Given the description of an element on the screen output the (x, y) to click on. 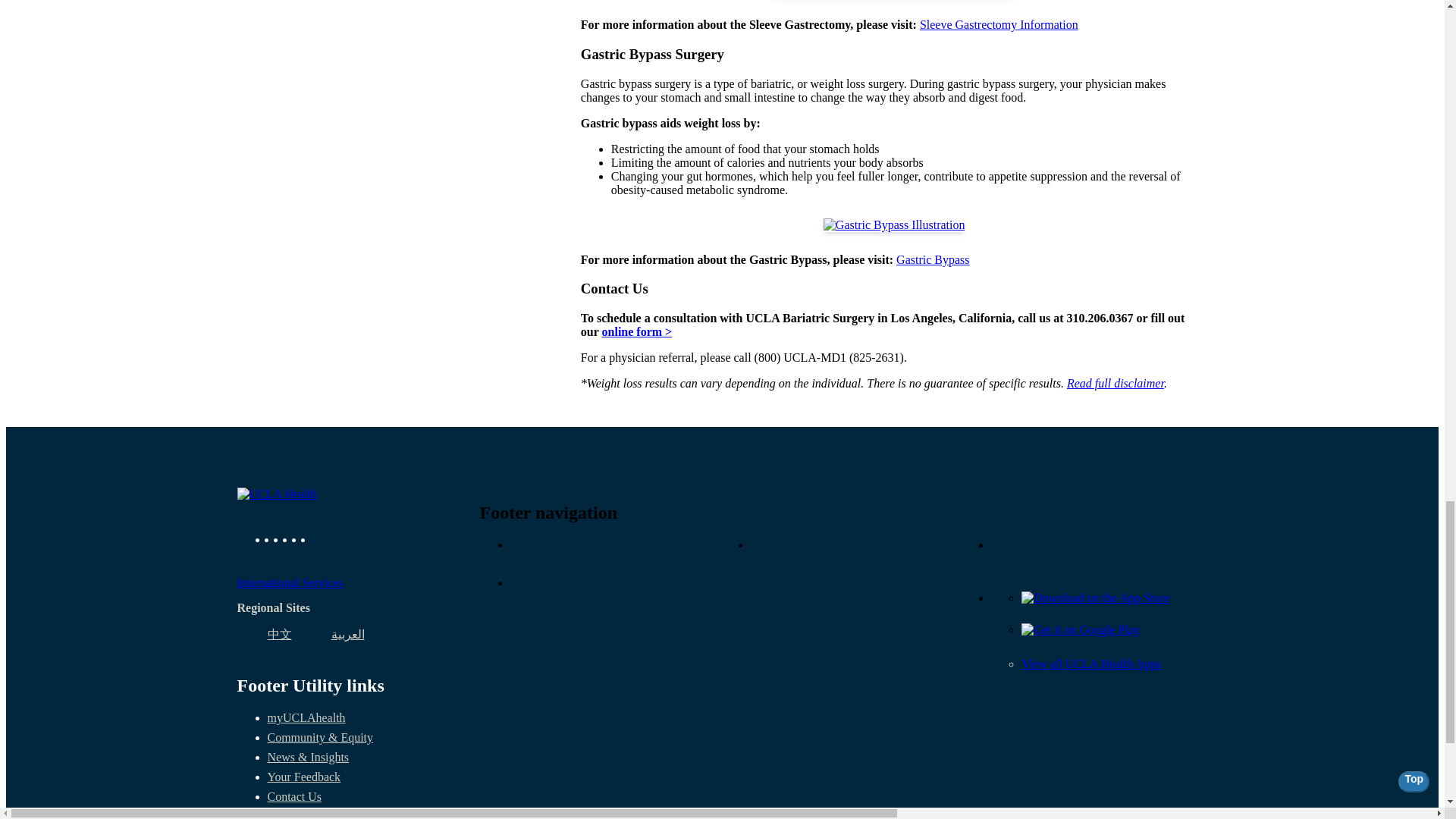
myUCLAhealth Login. (305, 717)
Sleeve Gastrectomy (999, 24)
online form (637, 331)
Gastric Bypass (932, 259)
UCLA Weight Loss Disclaimer (1115, 382)
